Given the description of an element on the screen output the (x, y) to click on. 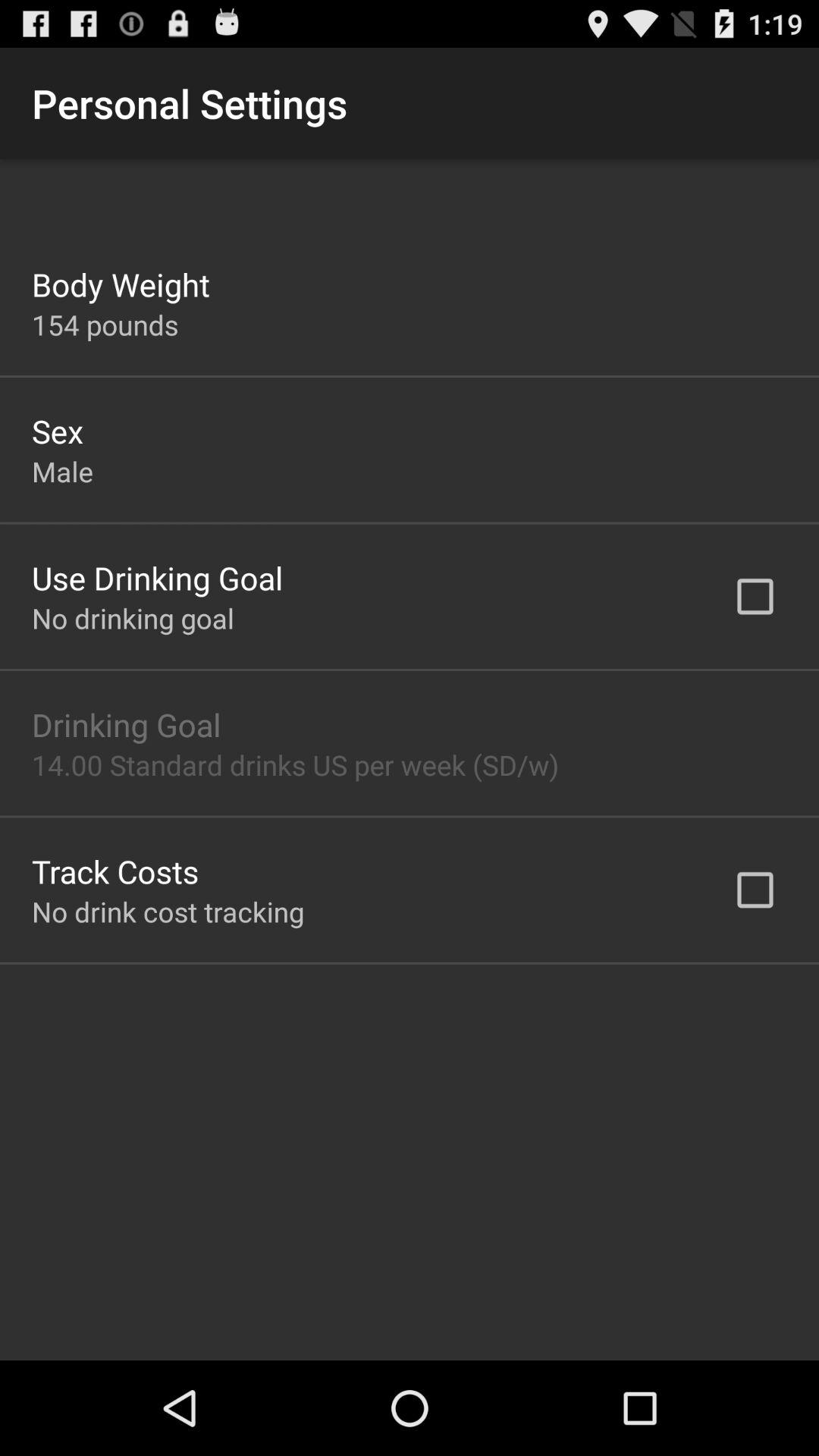
turn on the icon above the track costs item (295, 764)
